Given the description of an element on the screen output the (x, y) to click on. 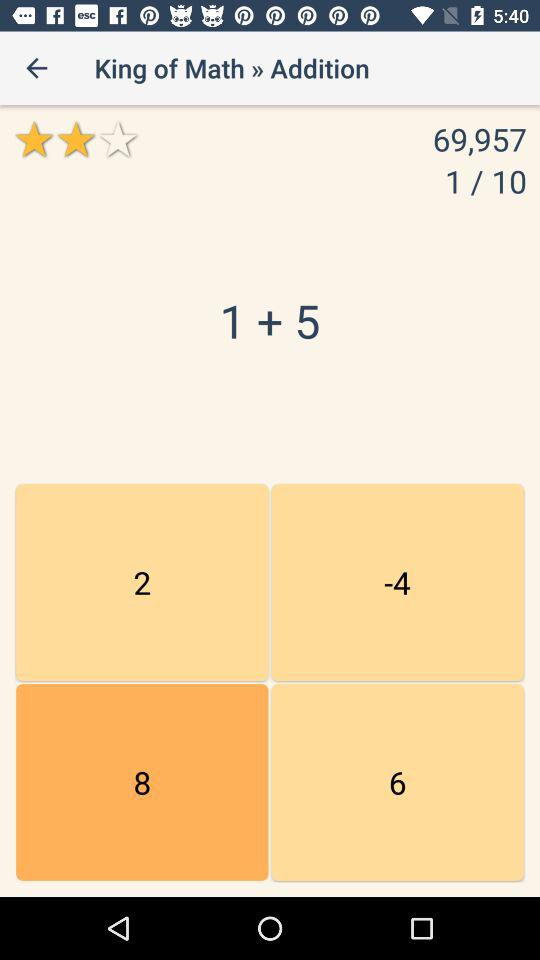
open the item next to the 15 (397, 582)
